Given the description of an element on the screen output the (x, y) to click on. 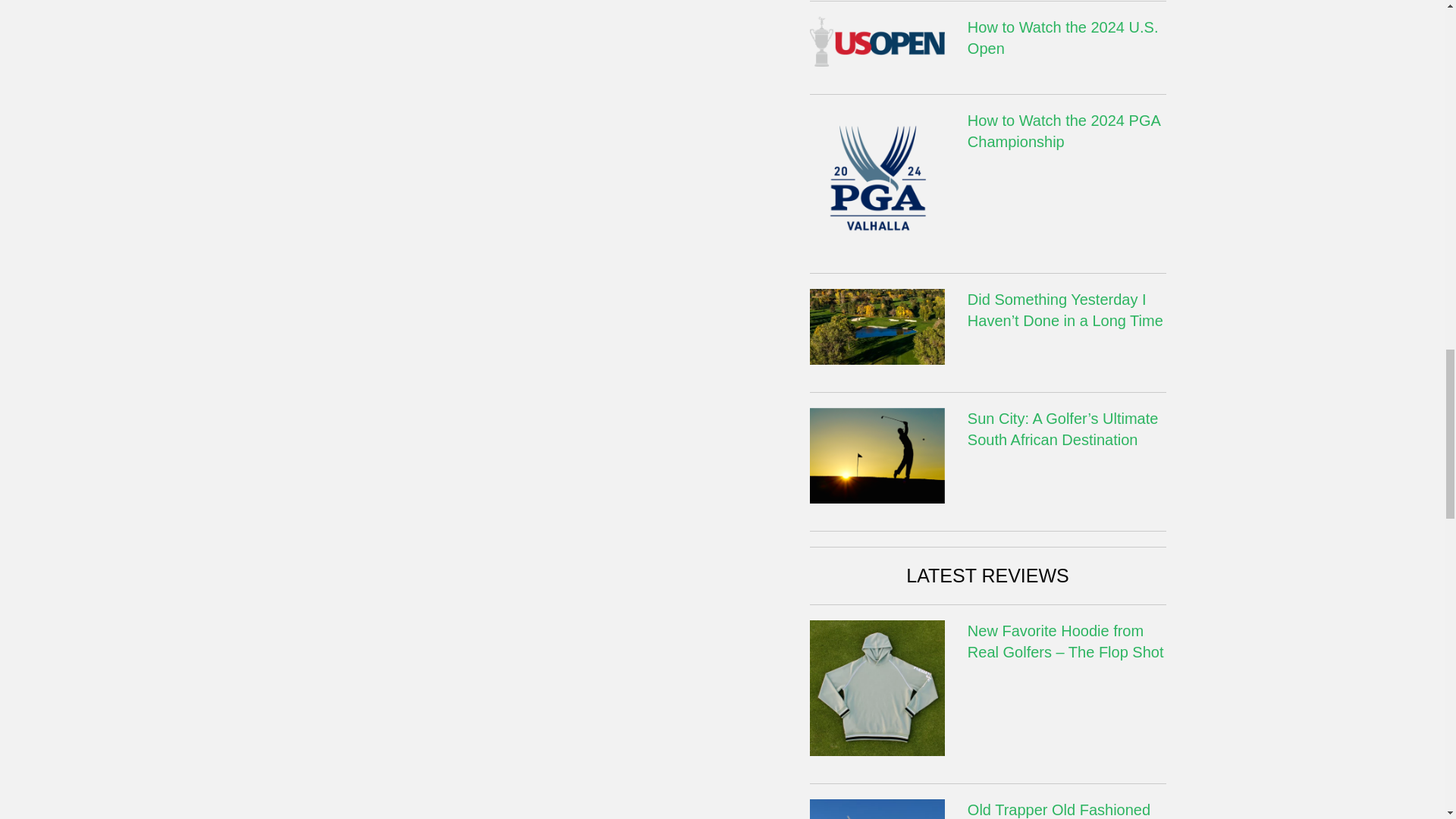
How to Watch the 2024 U.S. Open (876, 40)
How to Watch the 2024 PGA Championship (876, 176)
